Given the description of an element on the screen output the (x, y) to click on. 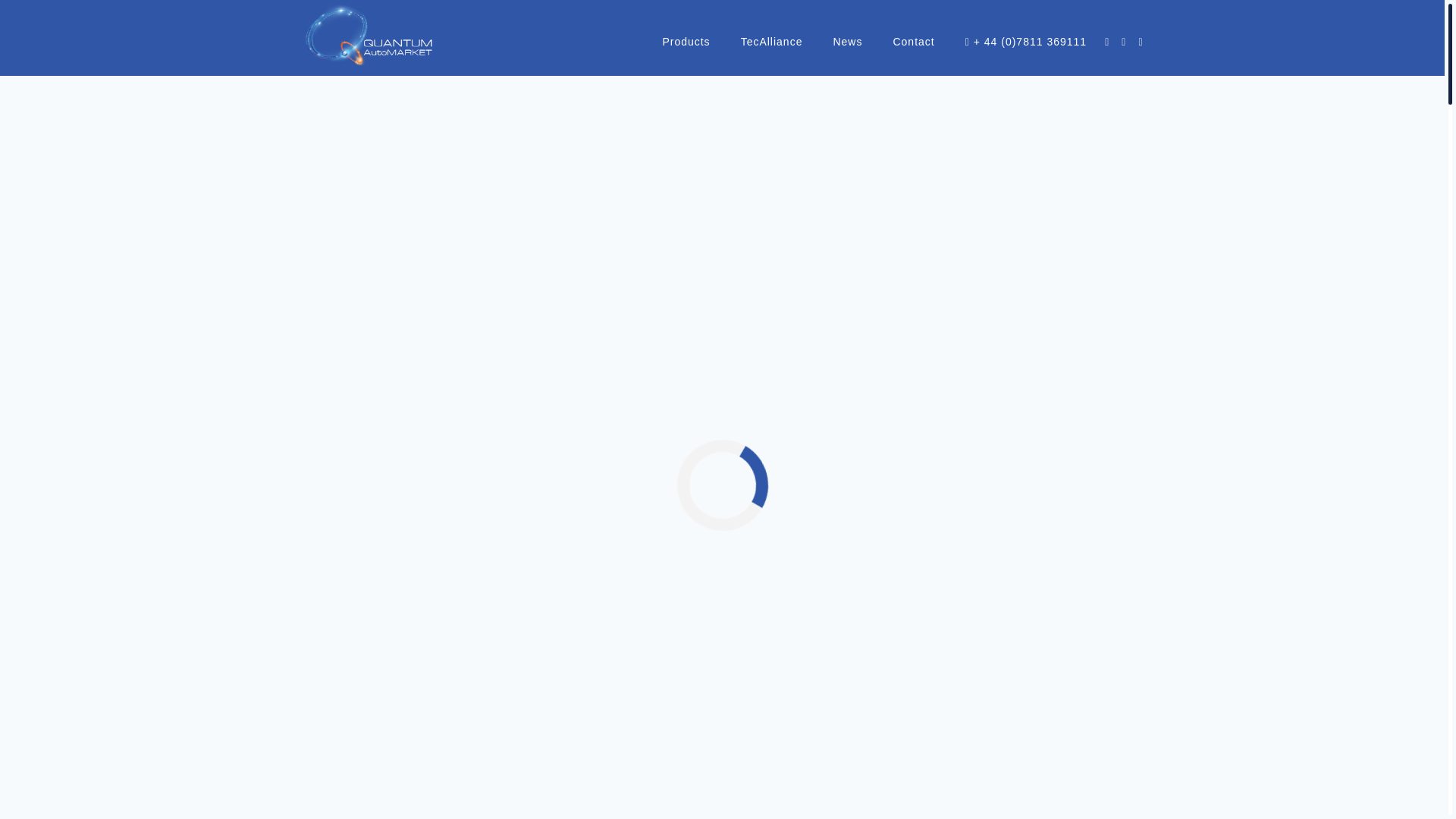
News (846, 41)
Homepage (683, 154)
TecAlliance (772, 41)
Contact (913, 41)
Products (686, 41)
